Given the description of an element on the screen output the (x, y) to click on. 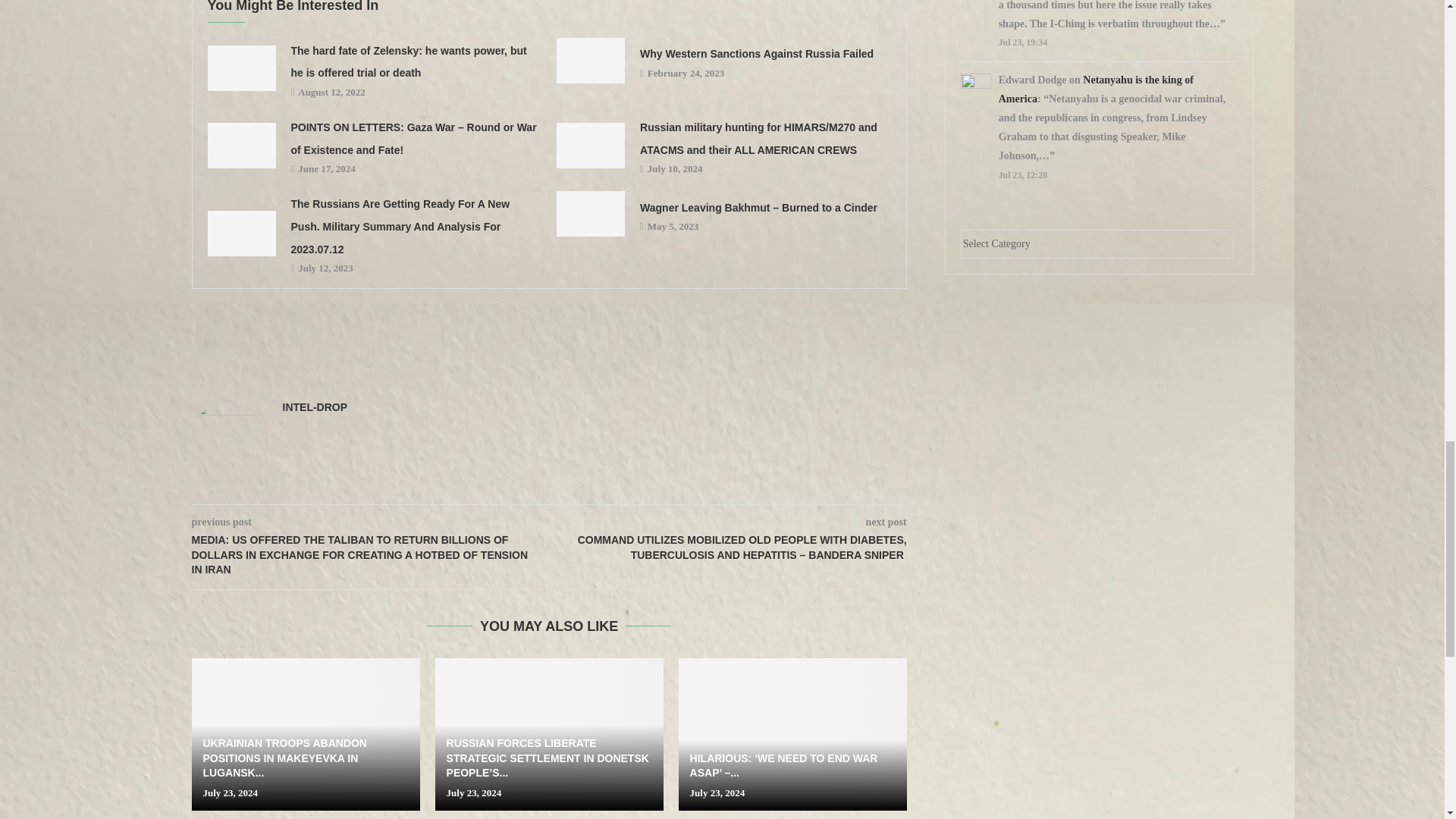
Why Western Sanctions Against Russia Failed (590, 60)
Author INTEL-DROP (314, 407)
